Given the description of an element on the screen output the (x, y) to click on. 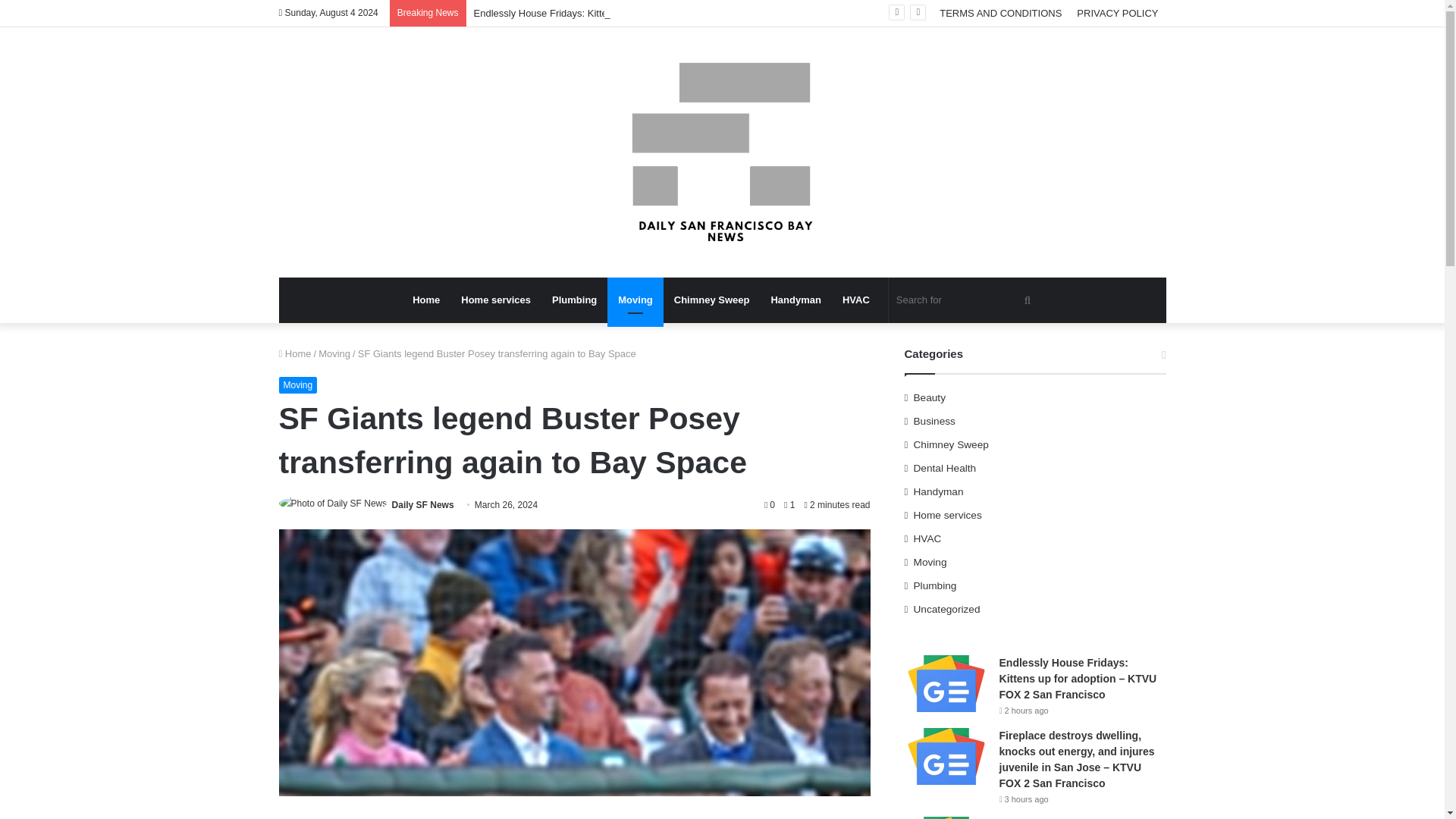
TERMS AND CONDITIONS (999, 13)
Search for (965, 299)
Moving (334, 353)
Home (295, 353)
Plumbing (574, 299)
Home (425, 299)
Search for (1026, 299)
DAILY SAN FRANCISCO BAY NEWS (721, 152)
HVAC (855, 299)
Moving (298, 384)
Home services (495, 299)
Moving (635, 299)
Daily SF News (422, 504)
Handyman (795, 299)
PRIVACY POLICY (1117, 13)
